Given the description of an element on the screen output the (x, y) to click on. 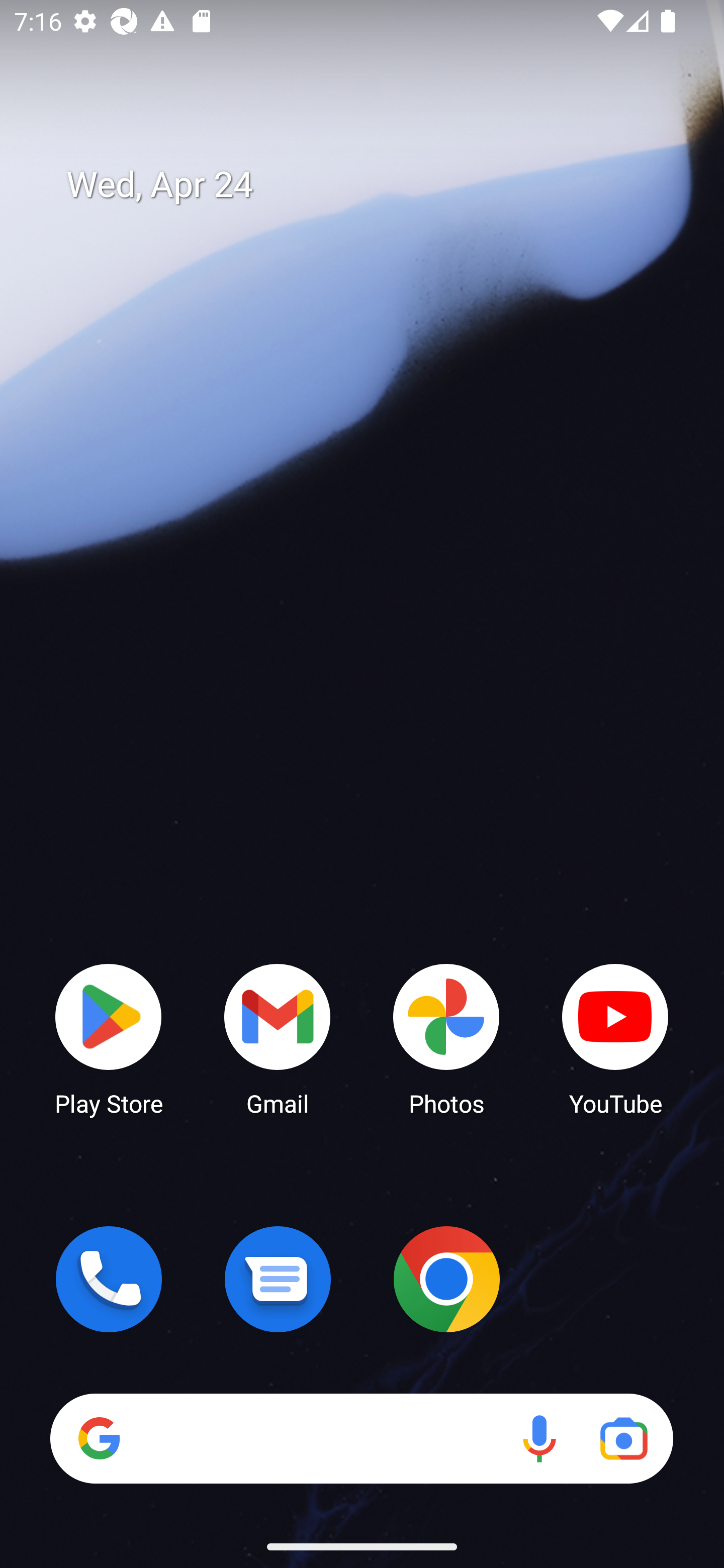
Wed, Apr 24 (375, 184)
Play Store (108, 1038)
Gmail (277, 1038)
Photos (445, 1038)
YouTube (615, 1038)
Phone (108, 1279)
Messages (277, 1279)
Chrome (446, 1279)
Search Voice search Google Lens (361, 1438)
Voice search (539, 1438)
Google Lens (623, 1438)
